Given the description of an element on the screen output the (x, y) to click on. 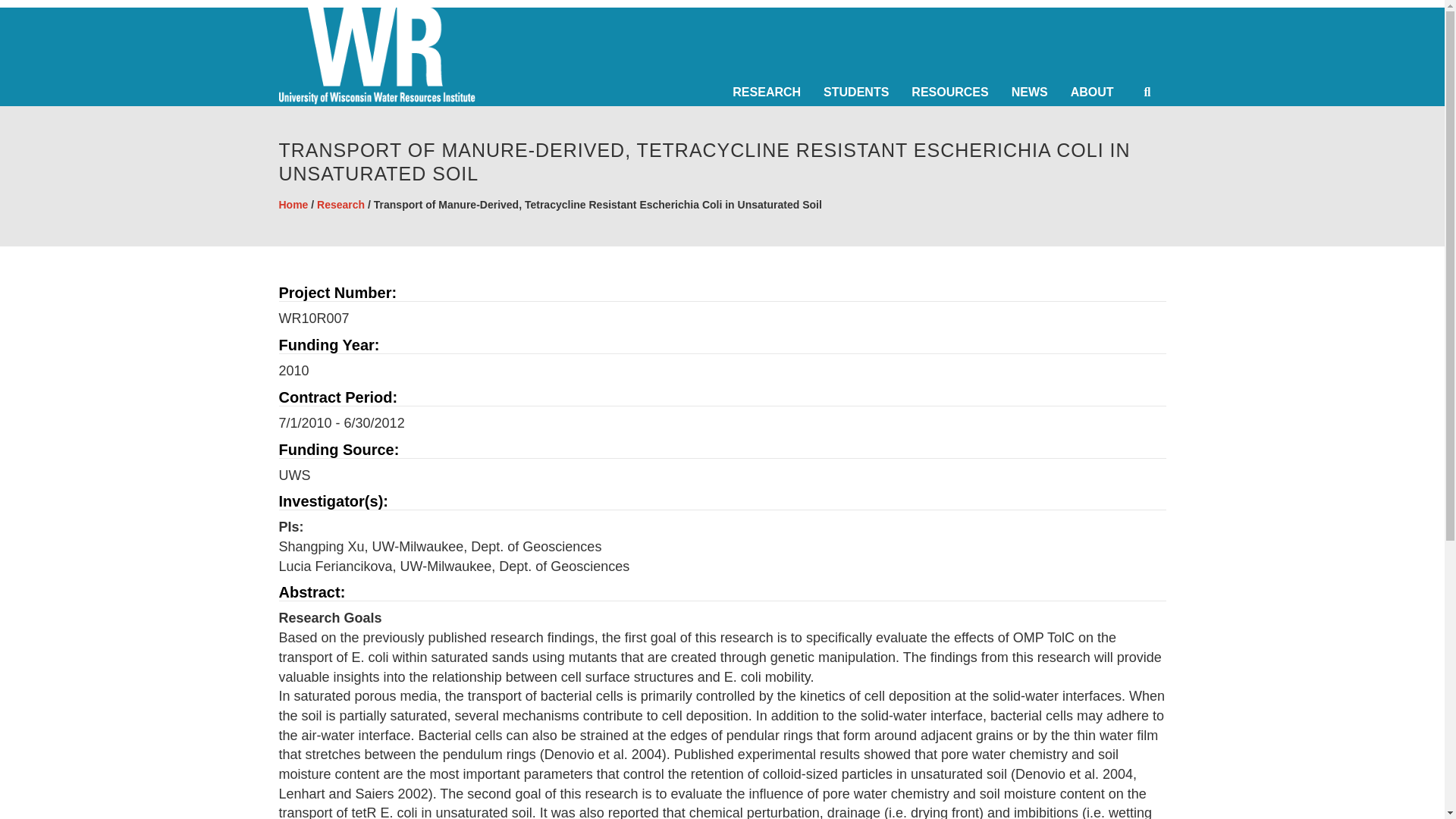
NEWS (1033, 92)
RESOURCES (953, 92)
Research (341, 204)
Home (293, 204)
STUDENTS (859, 92)
RESEARCH (770, 92)
ABOUT (1095, 92)
